Given the description of an element on the screen output the (x, y) to click on. 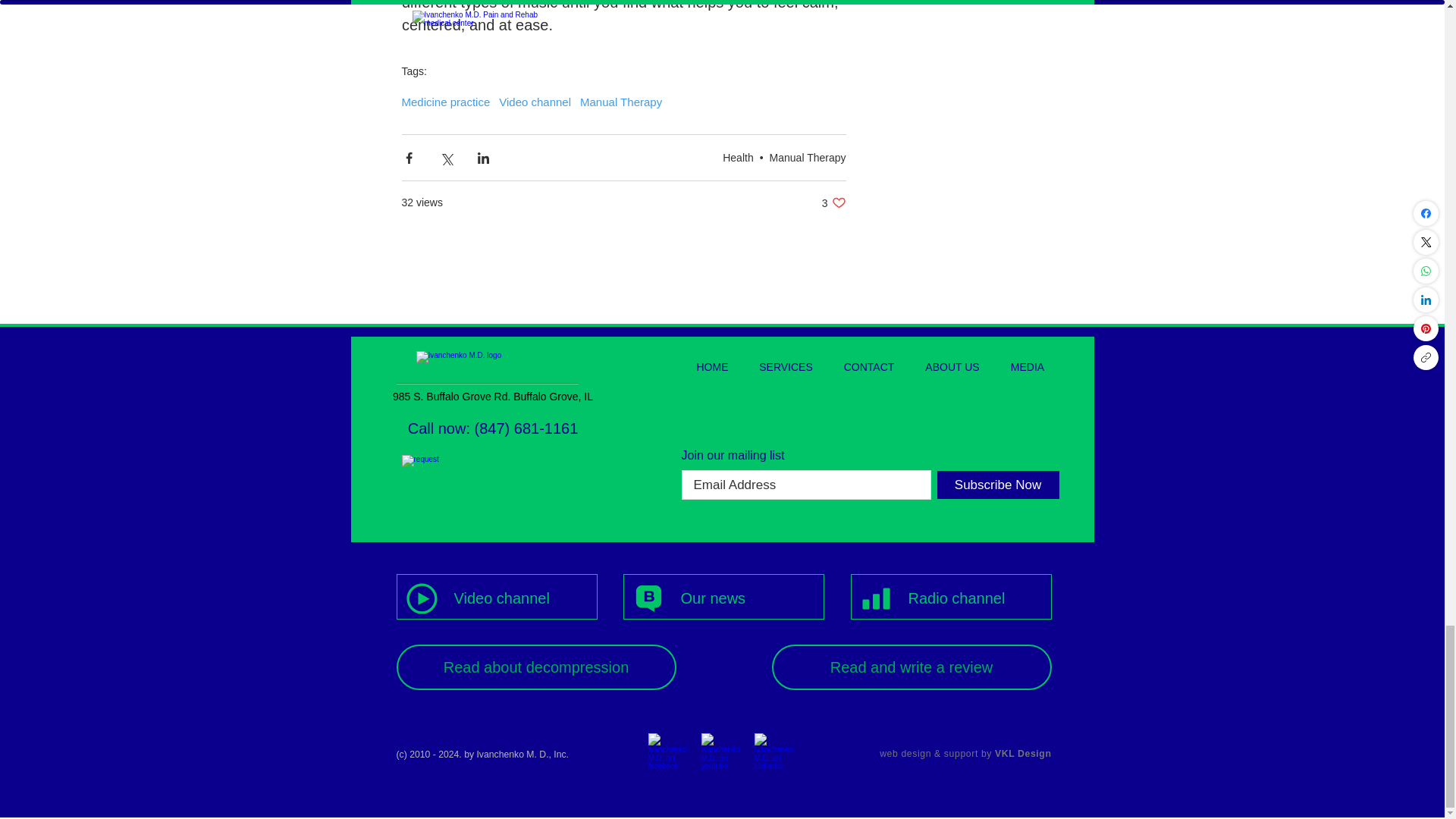
Manual Therapy (807, 157)
Request our service (492, 477)
We are on facebook (833, 202)
Ivanchenko M.D. logo (667, 753)
Health (491, 365)
Medicine practice (737, 157)
Wea re on Youtube (445, 101)
Manual Therapy (721, 753)
We are on Linkedin (620, 101)
